Given the description of an element on the screen output the (x, y) to click on. 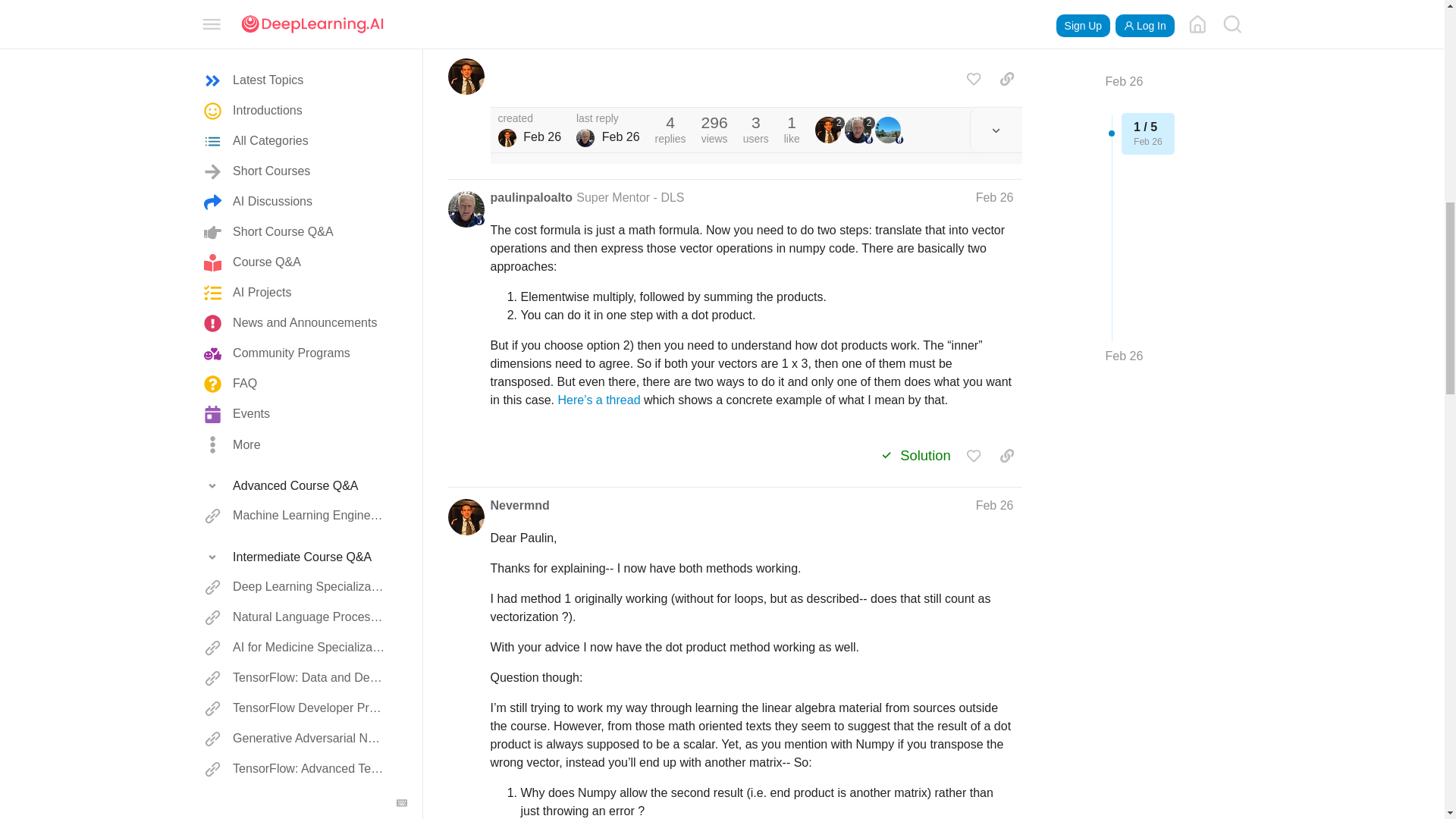
AI for Good (296, 142)
Machine Learning Specialization (296, 51)
Tags (296, 214)
AI for Everyone (296, 112)
Toggle section (296, 214)
Toggle section (296, 21)
Generative AI for Everyone (296, 173)
